Given the description of an element on the screen output the (x, y) to click on. 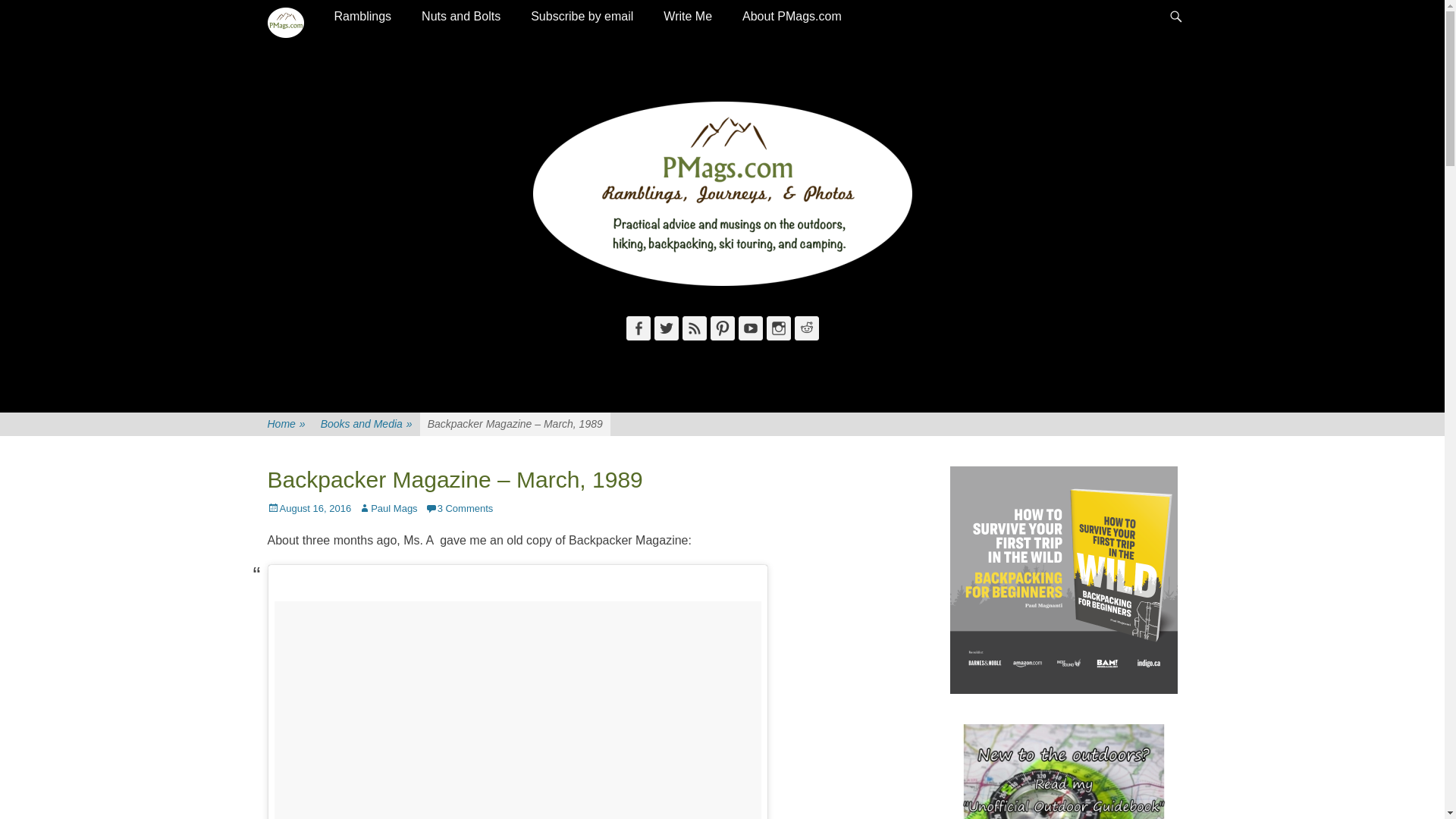
Ramblings (362, 16)
Write Me (686, 16)
Facebook (638, 328)
Twitter (665, 328)
